Given the description of an element on the screen output the (x, y) to click on. 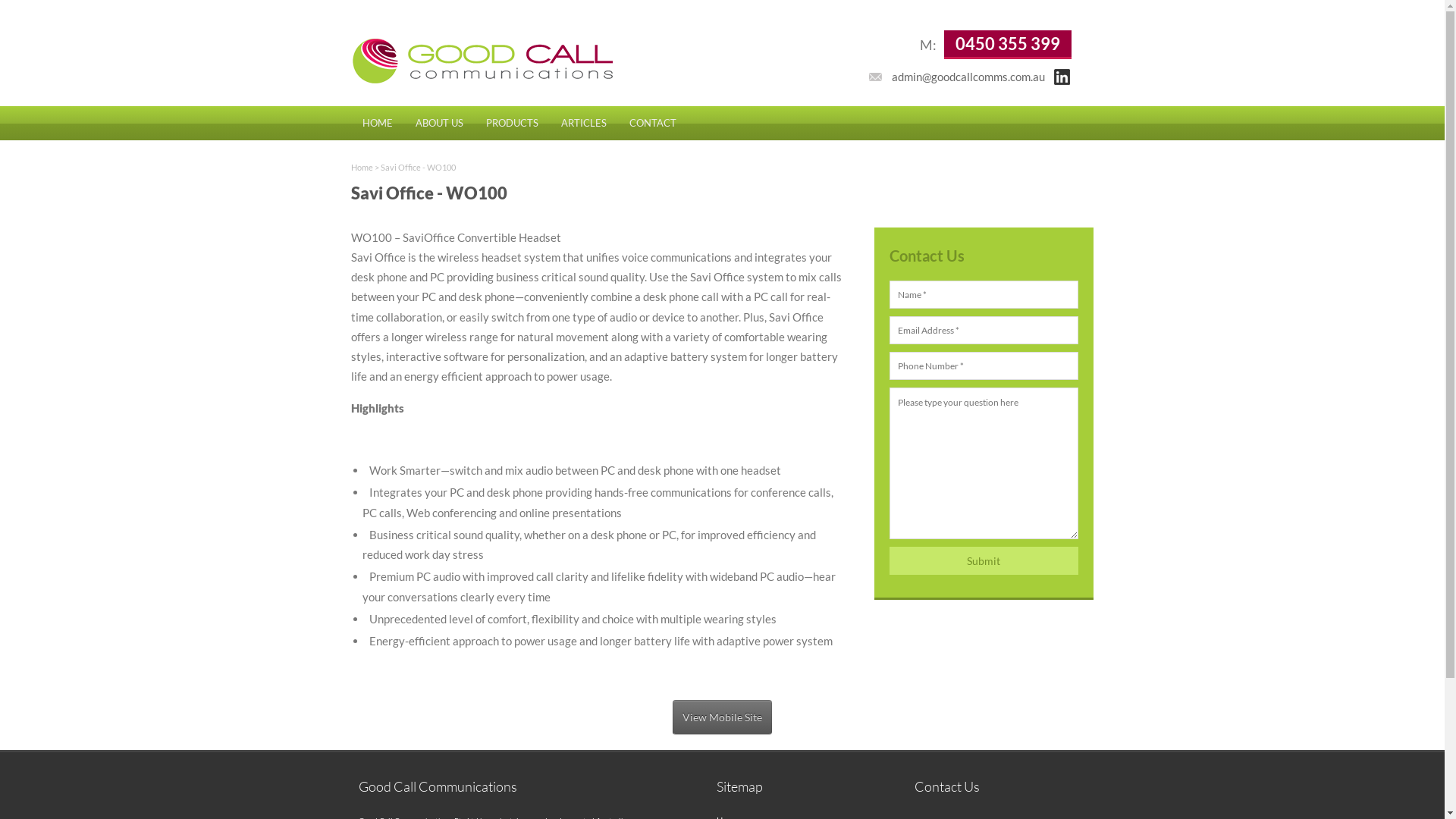
Home Element type: text (361, 167)
View Mobile Site Element type: text (721, 716)
Good Call Communications Element type: text (436, 786)
HOME Element type: text (376, 123)
ARTICLES Element type: text (583, 123)
Sitemap Element type: text (739, 786)
Contact Us Element type: text (946, 786)
Connect With Us On LinkedIn Element type: hover (1061, 76)
Submit Element type: text (983, 560)
ABOUT US Element type: text (438, 123)
CONTACT Element type: text (652, 123)
admin@goodcallcomms.com.au Element type: text (967, 76)
PRODUCTS Element type: text (511, 123)
